Given the description of an element on the screen output the (x, y) to click on. 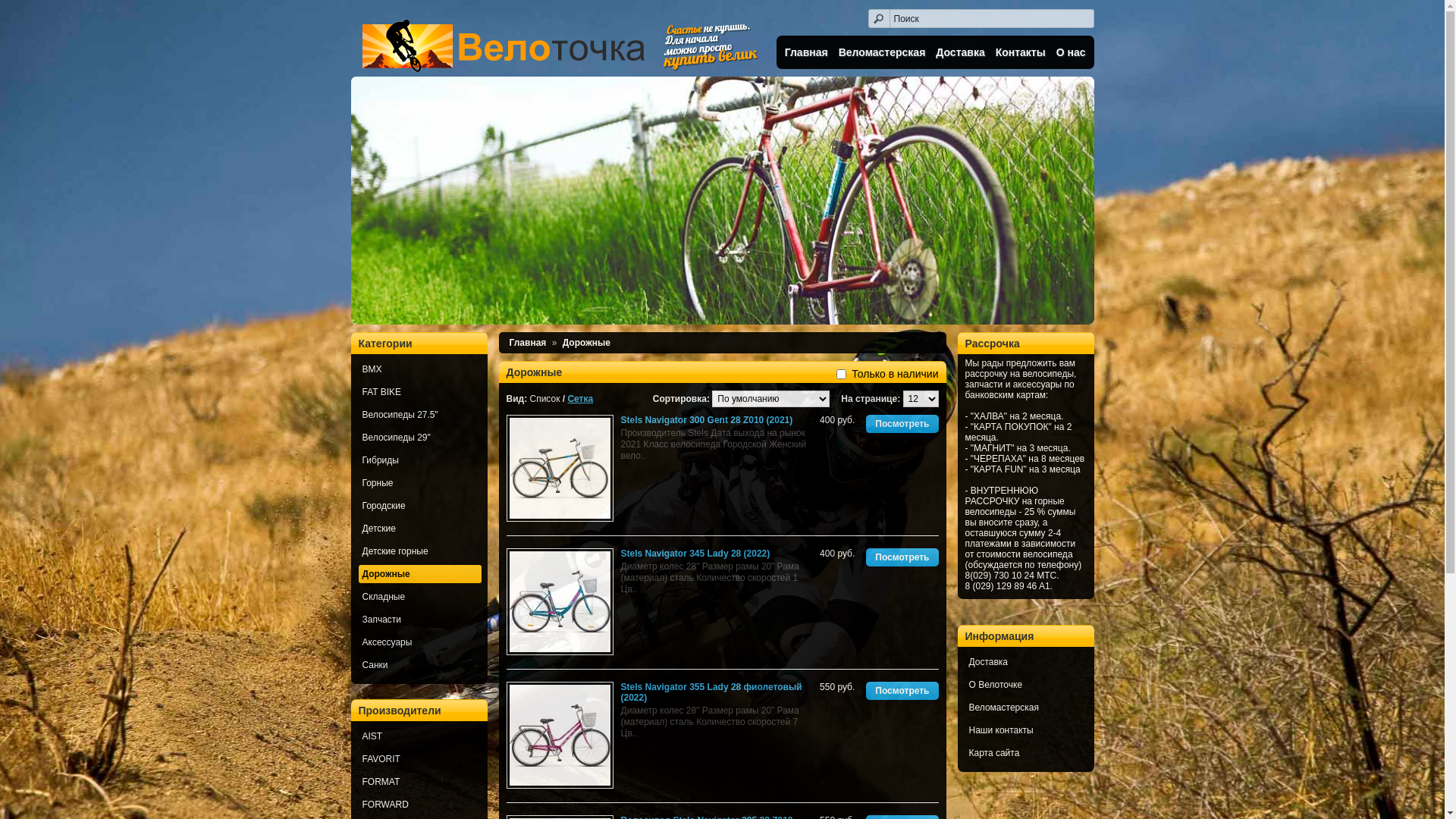
Stels Navigator 345 Lady 28 (2022) Element type: text (694, 553)
Stels Navigator 345 Lady 28 (2022) Element type: hover (559, 601)
FAT BIKE Element type: text (418, 391)
Stels Navigator 300 Gent 28 Z010 (2021) Element type: hover (559, 467)
FAVORIT Element type: text (418, 758)
FORWARD Element type: text (418, 804)
FORMAT Element type: text (418, 781)
BMX Element type: text (418, 369)
Stels Navigator 300 Gent 28 Z010 (2021) Element type: text (706, 419)
AIST Element type: text (418, 736)
